Given the description of an element on the screen output the (x, y) to click on. 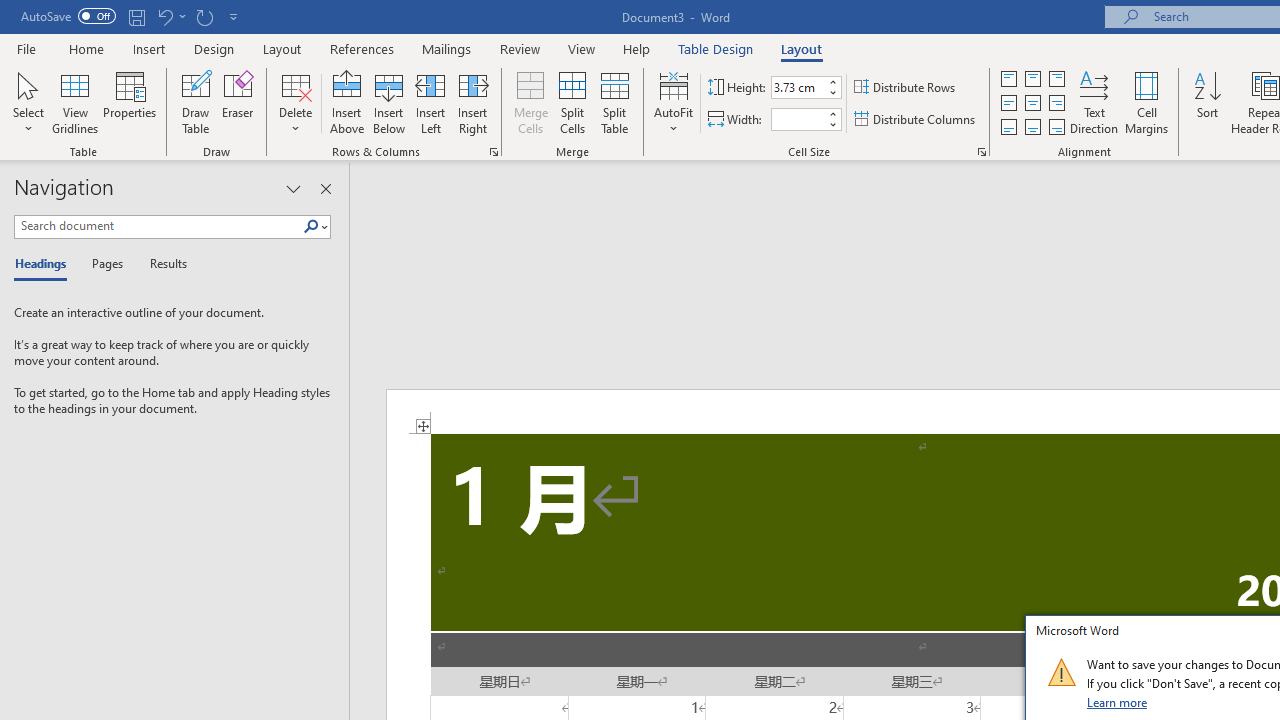
Align Bottom Right (1056, 126)
Close pane (325, 188)
AutoFit (673, 102)
Design (214, 48)
Align Center Right (1056, 103)
Table Design (715, 48)
Split Table (614, 102)
Undo Increase Indent (170, 15)
Distribute Columns (916, 119)
Cell Margins... (1146, 102)
Save (136, 15)
Properties... (981, 151)
Help (637, 48)
Quick Access Toolbar (131, 16)
